Given the description of an element on the screen output the (x, y) to click on. 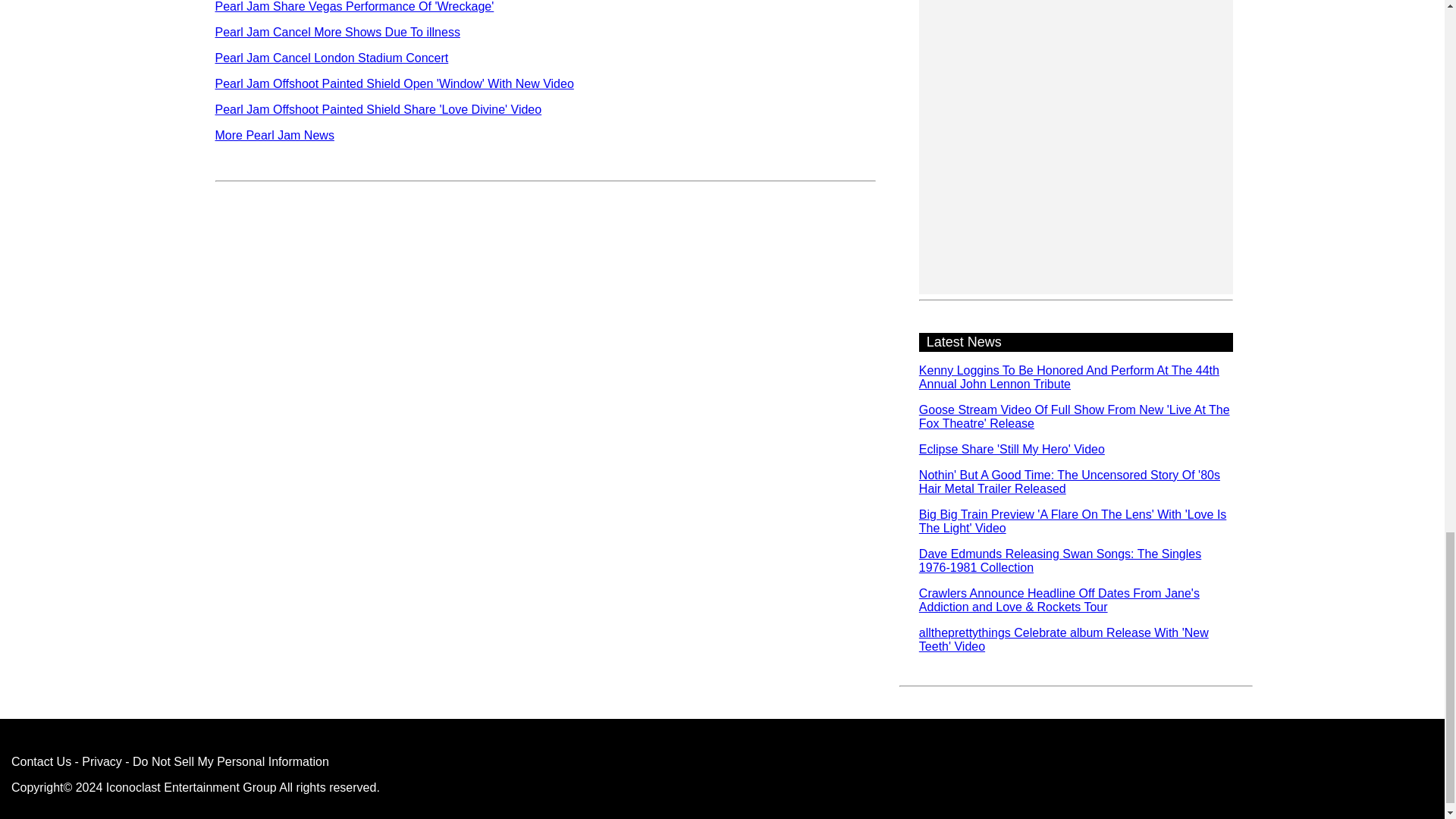
Pearl Jam Share Vegas Performance Of 'Wreckage' (355, 6)
Pearl Jam Offshoot Painted Shield Share 'Love Divine' Video (378, 109)
Pearl Jam Cancel More Shows Due To illness (337, 31)
Eclipse Share 'Still My Hero' Video (1011, 449)
Pearl Jam Cancel London Stadium Concert (331, 57)
